Given the description of an element on the screen output the (x, y) to click on. 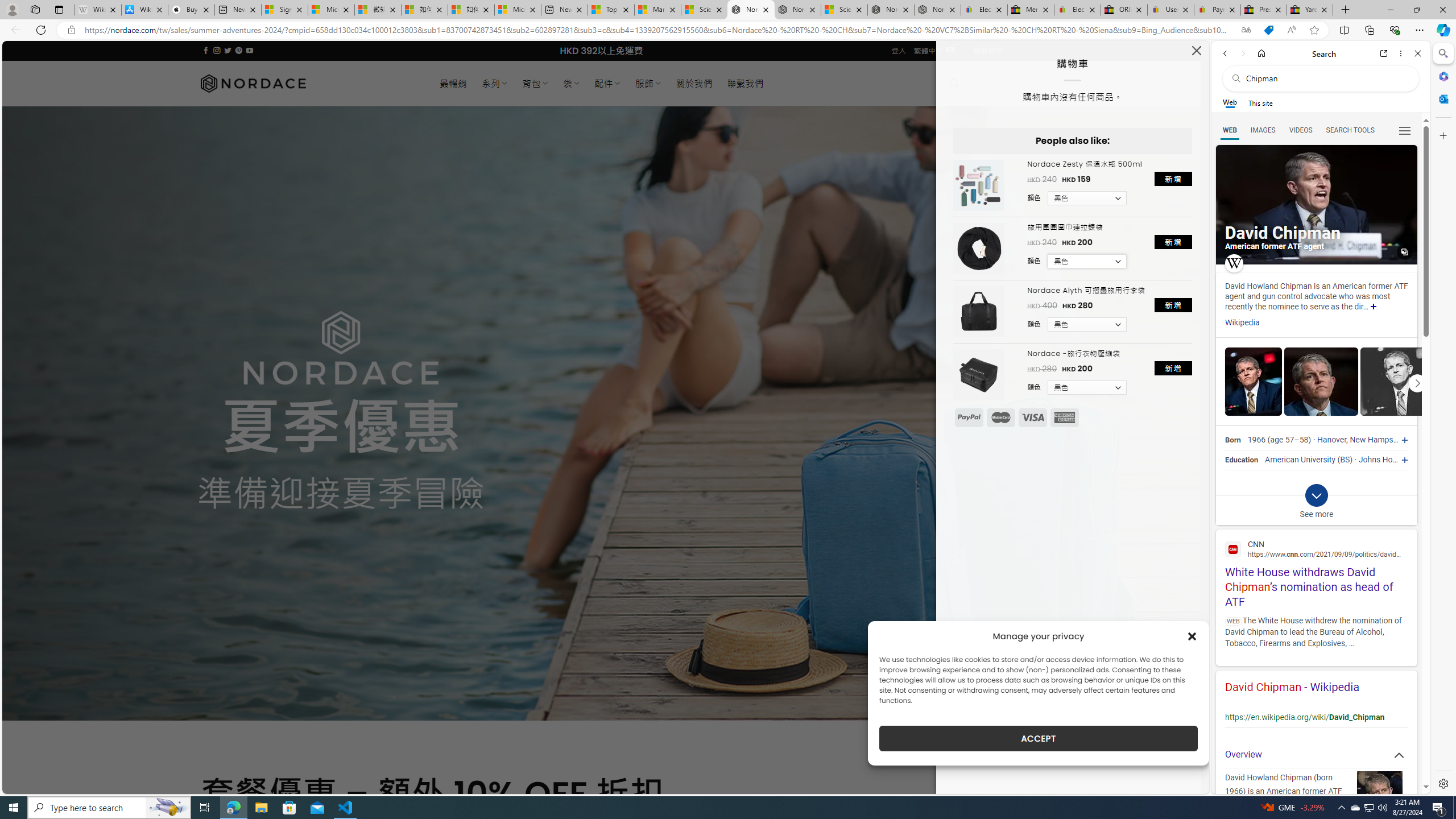
SEARCH TOOLS (1350, 130)
Class: cmplz-close (1192, 636)
Born (1232, 439)
